Given the description of an element on the screen output the (x, y) to click on. 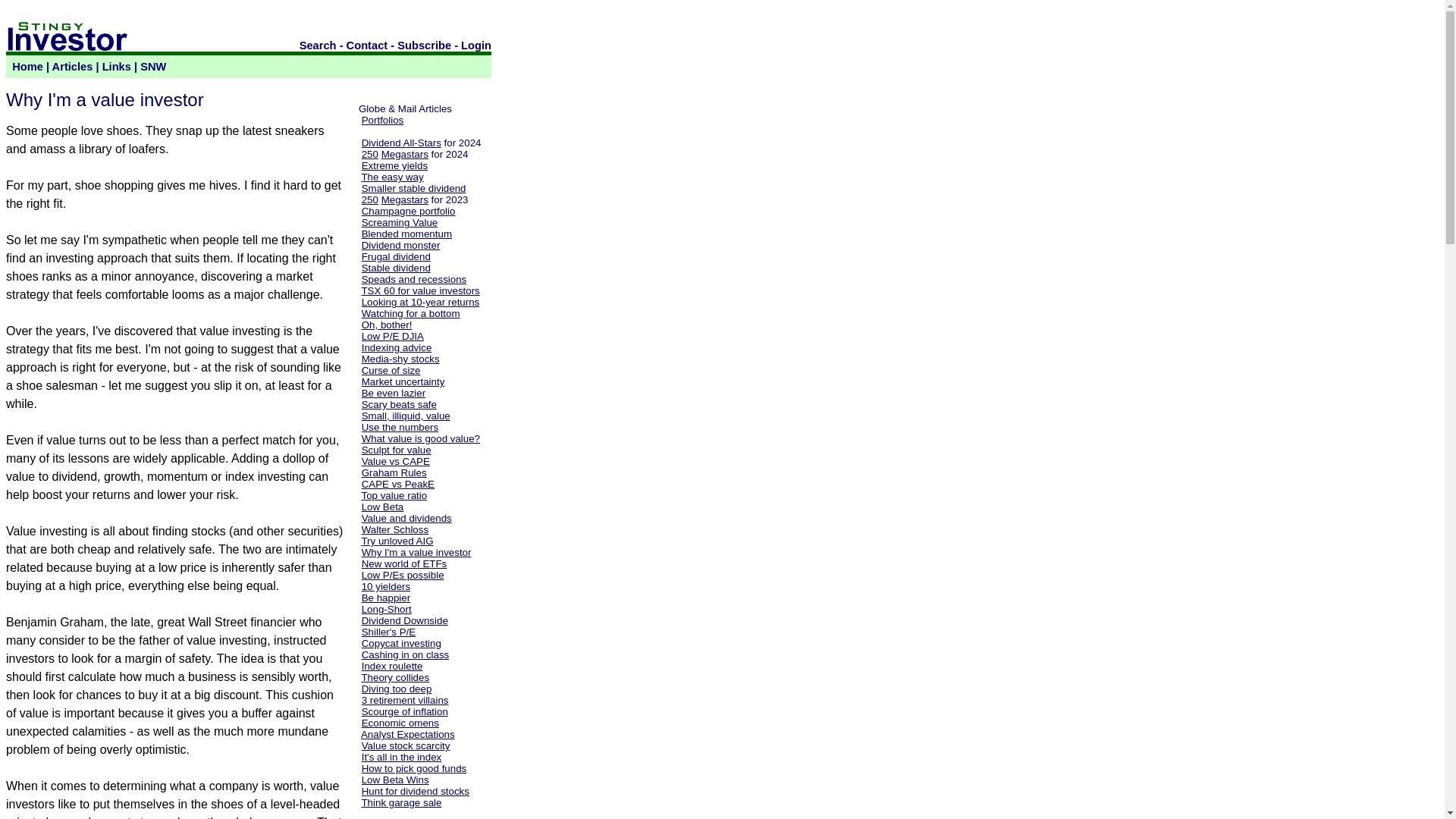
Extreme yields (394, 165)
The easy way (392, 176)
Oh, bother! (386, 324)
TSX 60 for value investors (420, 290)
Dividend monster (401, 244)
Subscribe (424, 45)
Small, illiquid, value (405, 415)
Indexing advice (396, 347)
Megastars (404, 199)
Use the numbers (400, 427)
